Given the description of an element on the screen output the (x, y) to click on. 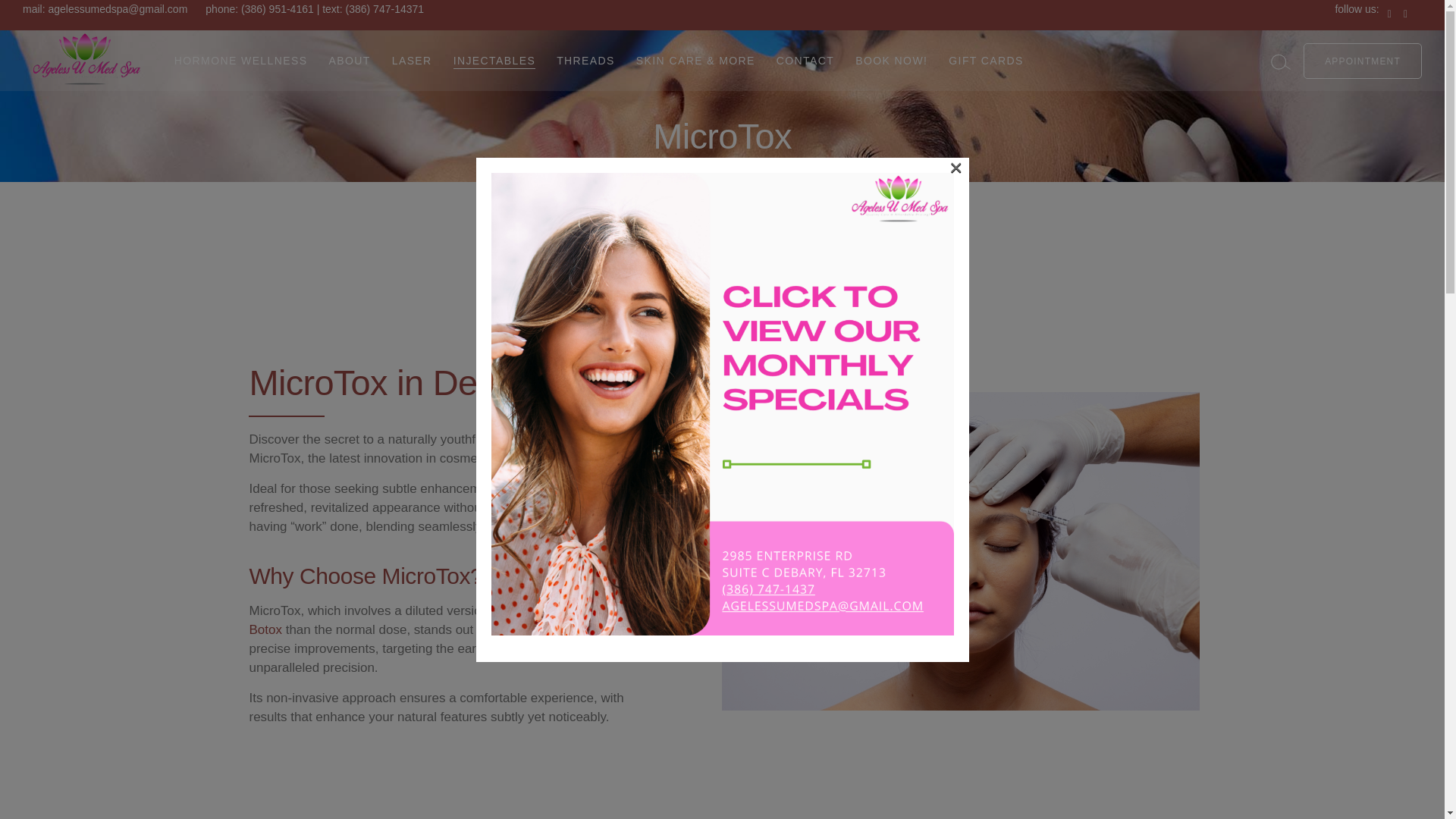
HORMONE WELLNESS (240, 60)
